Given the description of an element on the screen output the (x, y) to click on. 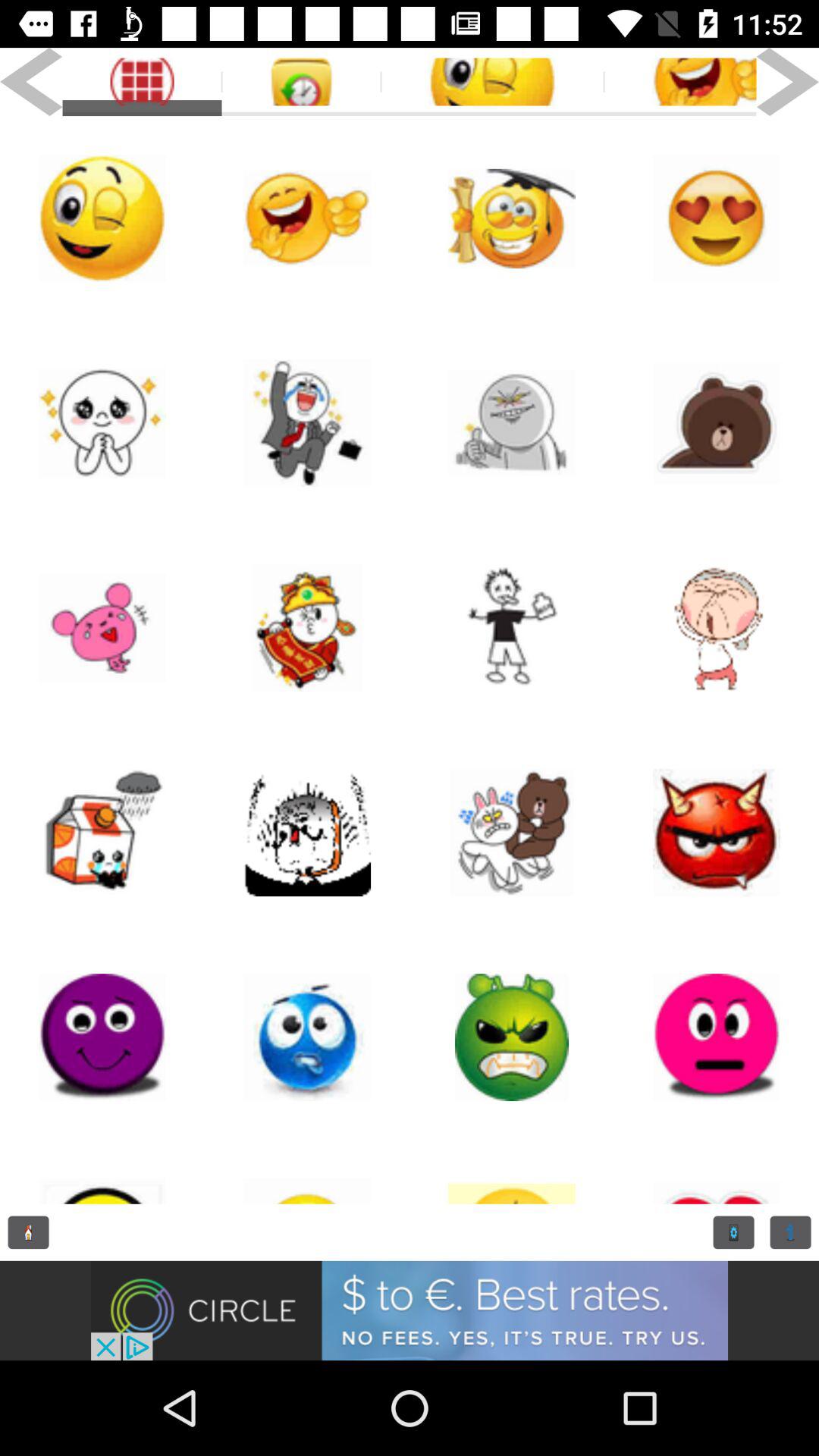
emoji select (306, 1037)
